Given the description of an element on the screen output the (x, y) to click on. 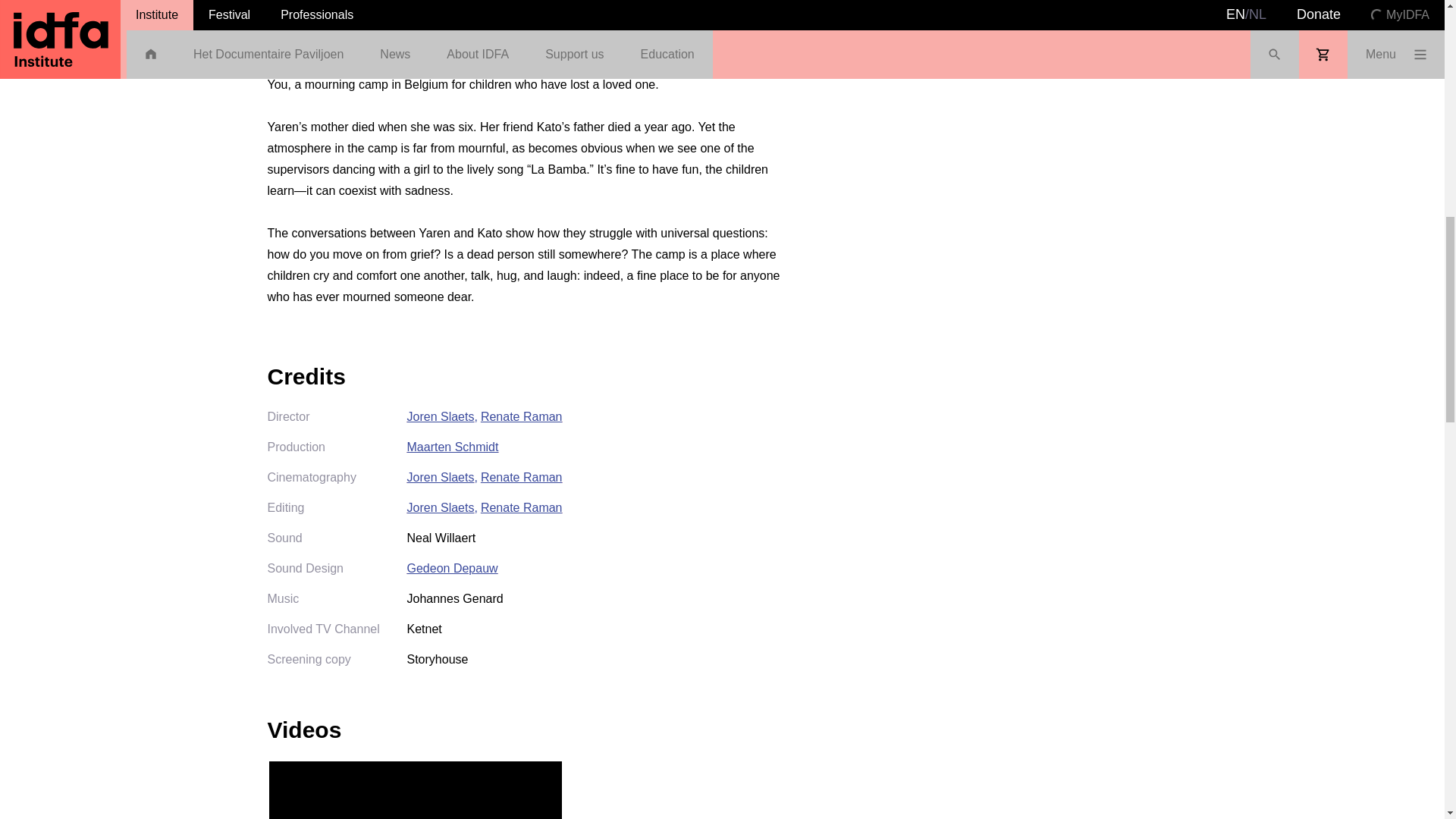
Joren Slaets, (441, 416)
Maarten Schmidt (451, 446)
Joren Slaets, (441, 477)
Renate Raman (521, 416)
Renate Raman (521, 477)
